Given the description of an element on the screen output the (x, y) to click on. 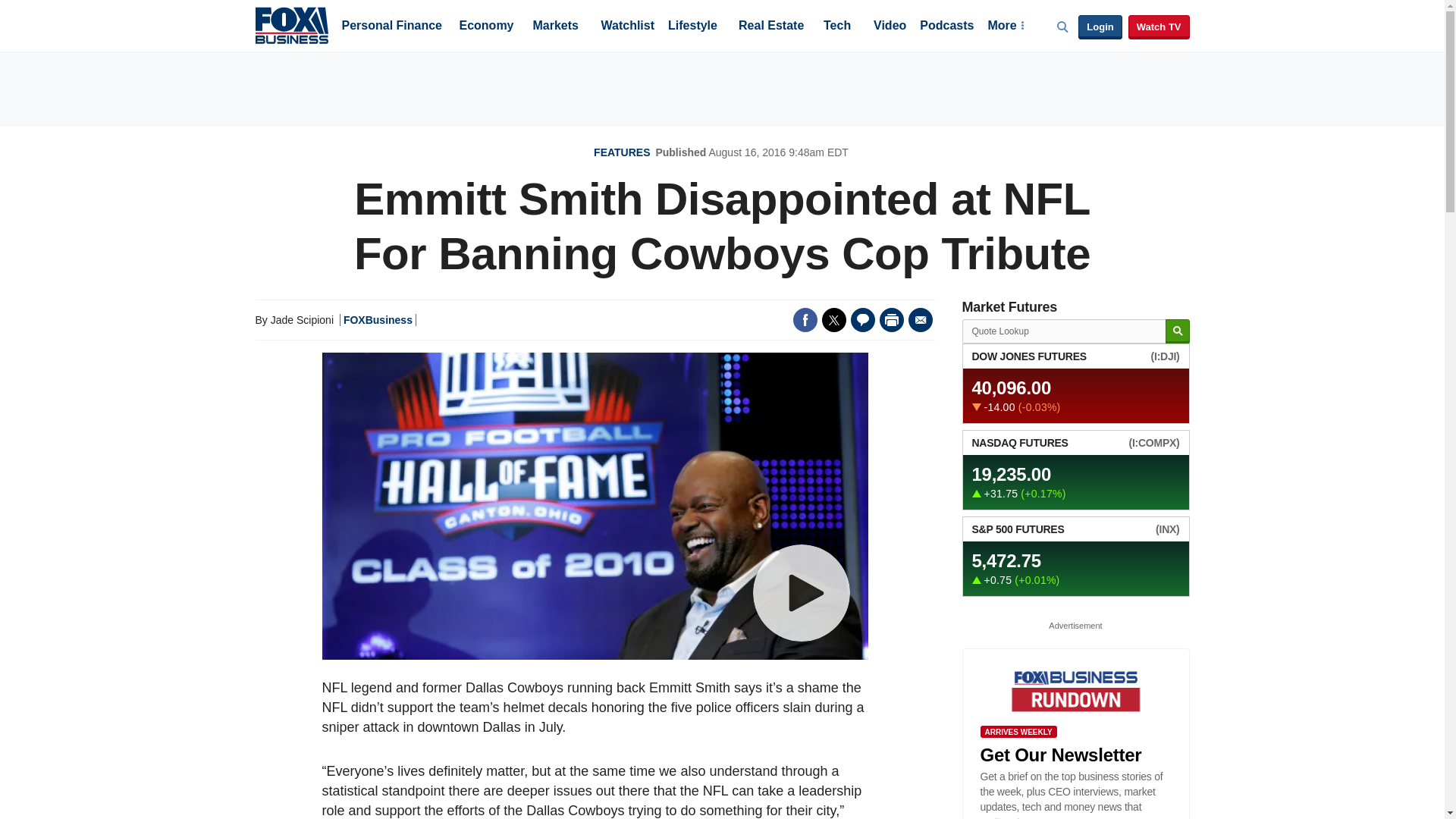
Markets (555, 27)
Search (1176, 331)
Lifestyle (692, 27)
Watch TV (1158, 27)
Login (1099, 27)
More (1005, 27)
Video (889, 27)
Watchlist (626, 27)
Podcasts (947, 27)
Economy (486, 27)
Personal Finance (391, 27)
Real Estate (770, 27)
Tech (837, 27)
Search (1176, 331)
Fox Business (290, 24)
